Given the description of an element on the screen output the (x, y) to click on. 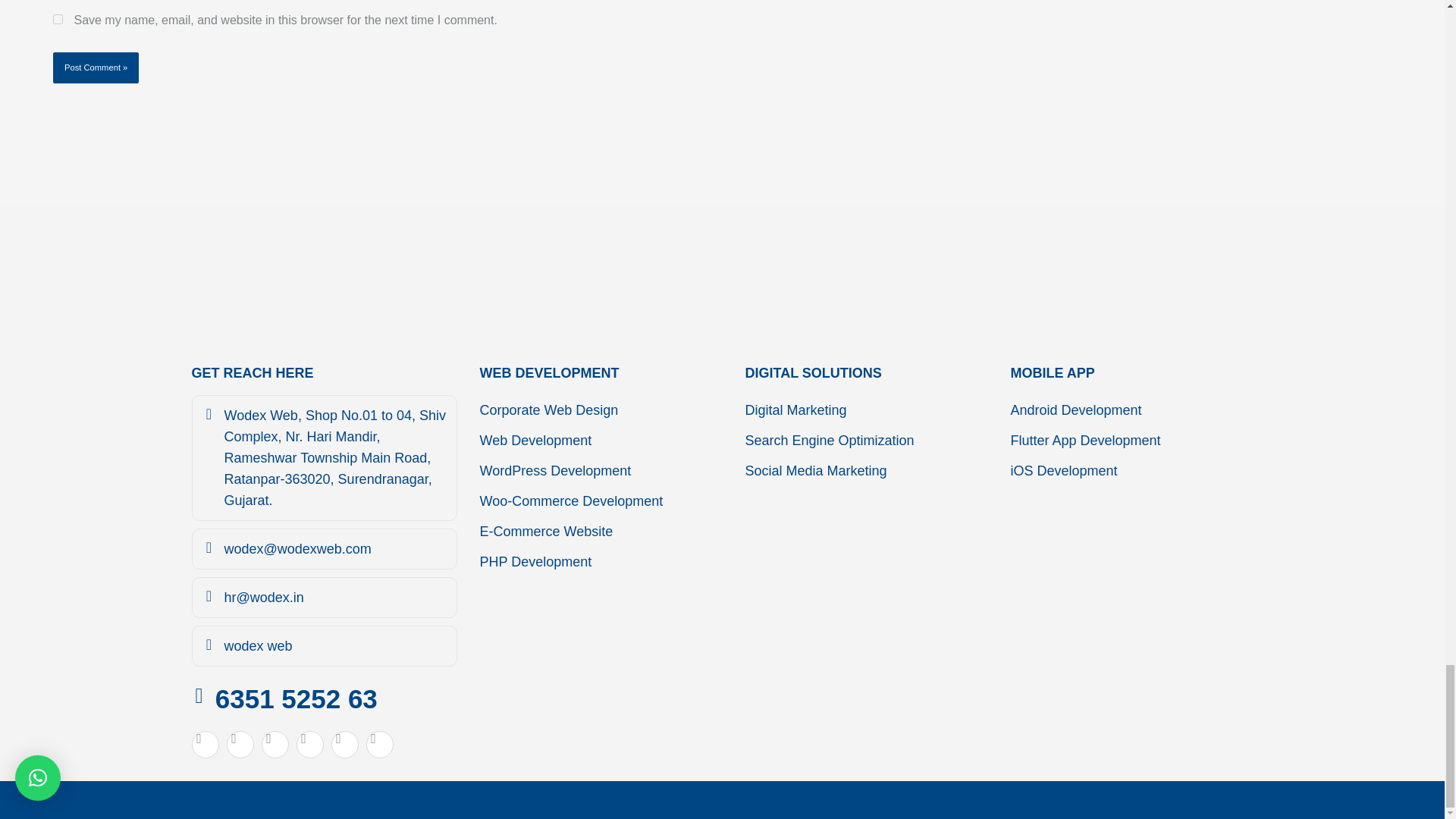
yes (57, 19)
